Given the description of an element on the screen output the (x, y) to click on. 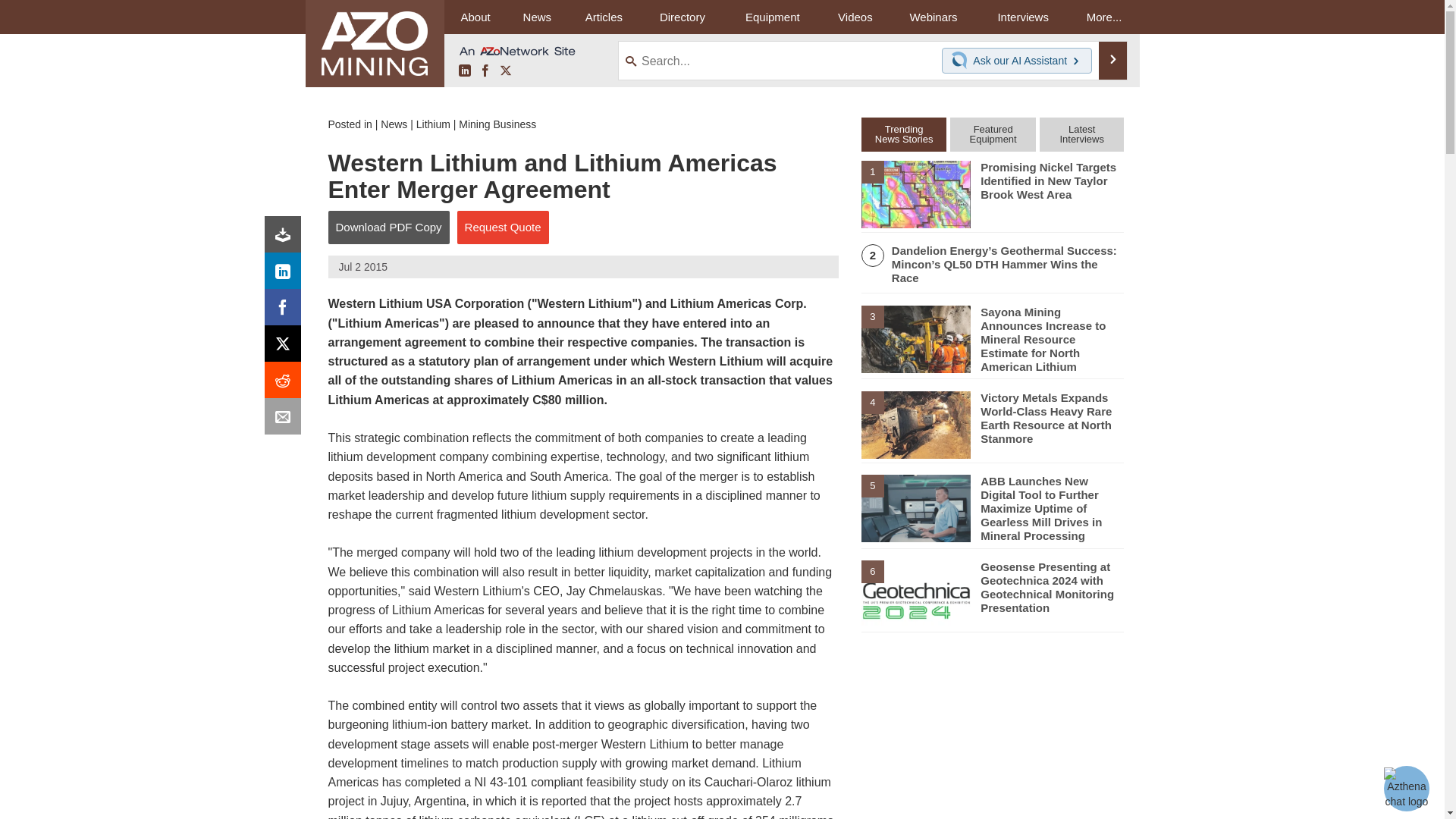
X (285, 348)
Webinars (932, 17)
About (475, 17)
Email (285, 420)
X (505, 71)
Directory (681, 17)
Chat with our AI Assistant (962, 60)
More... (1104, 17)
Facebook (285, 311)
Interviews (1022, 17)
